Given the description of an element on the screen output the (x, y) to click on. 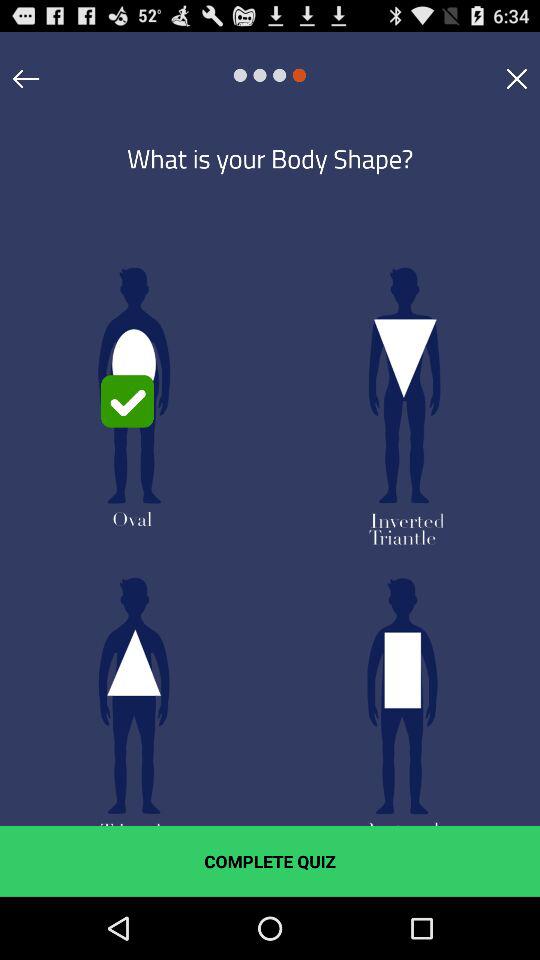
x (516, 78)
